Given the description of an element on the screen output the (x, y) to click on. 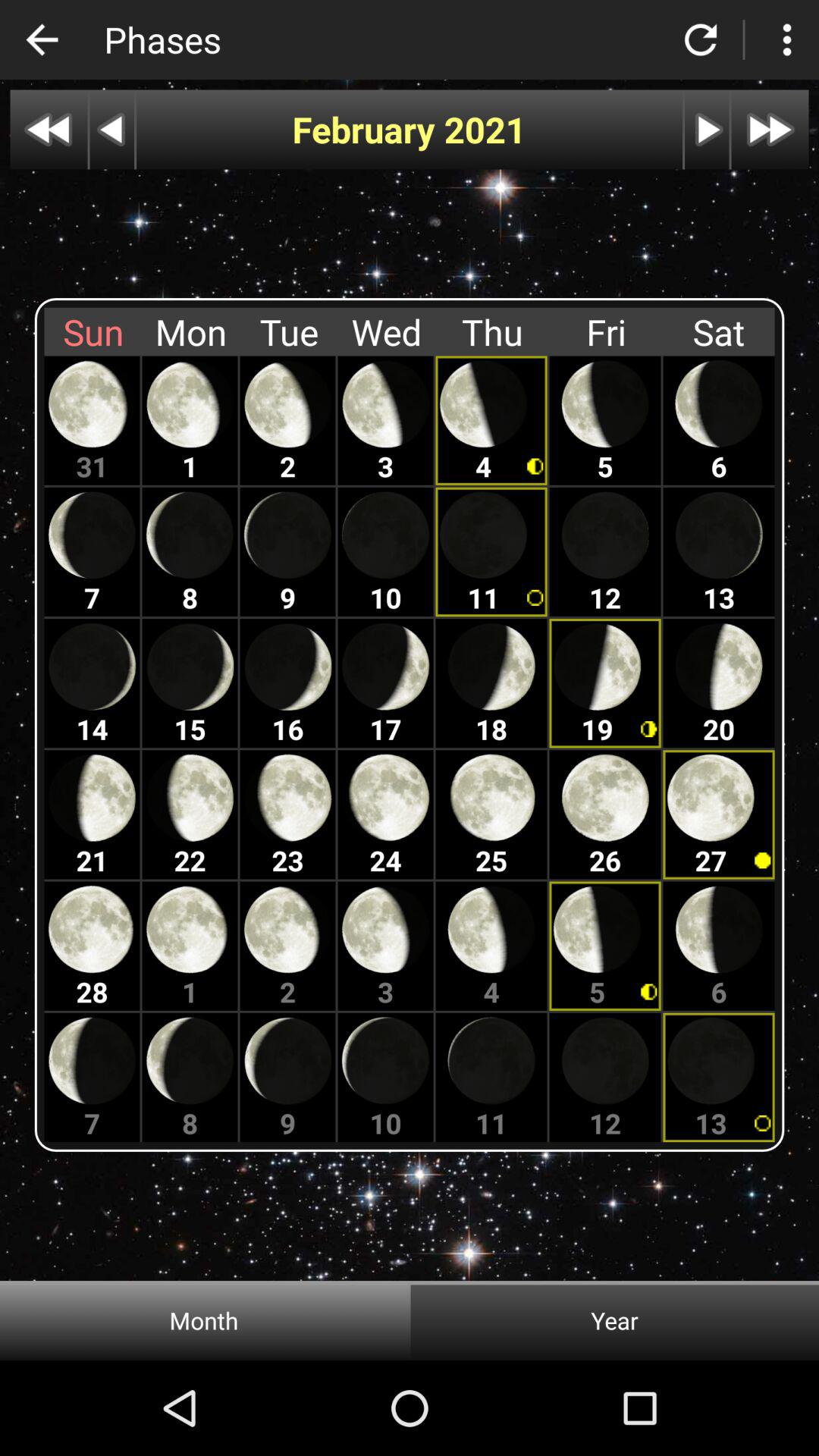
open menu (787, 39)
